Given the description of an element on the screen output the (x, y) to click on. 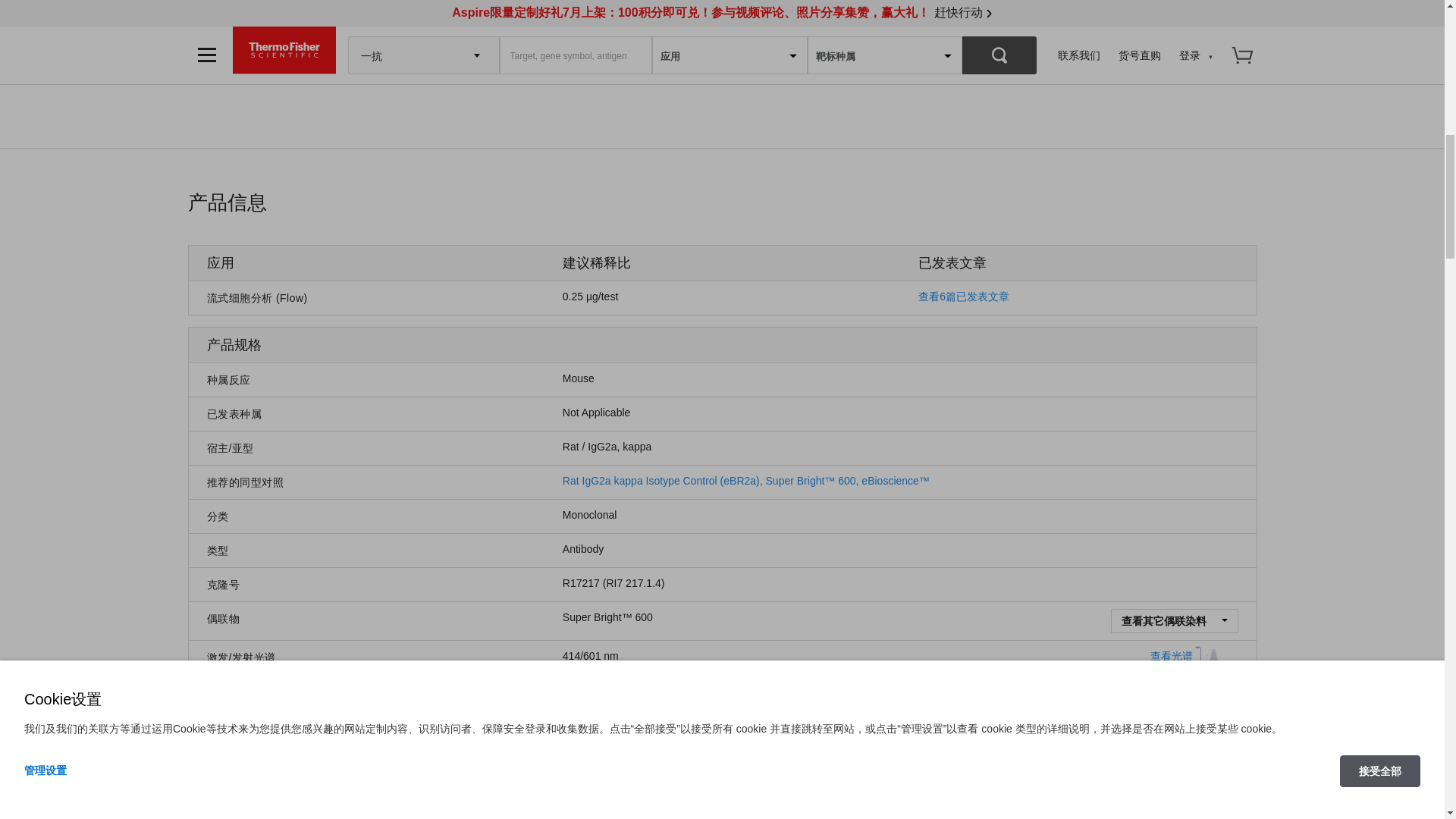
Mus musculus (578, 378)
Rattus (607, 446)
